Given the description of an element on the screen output the (x, y) to click on. 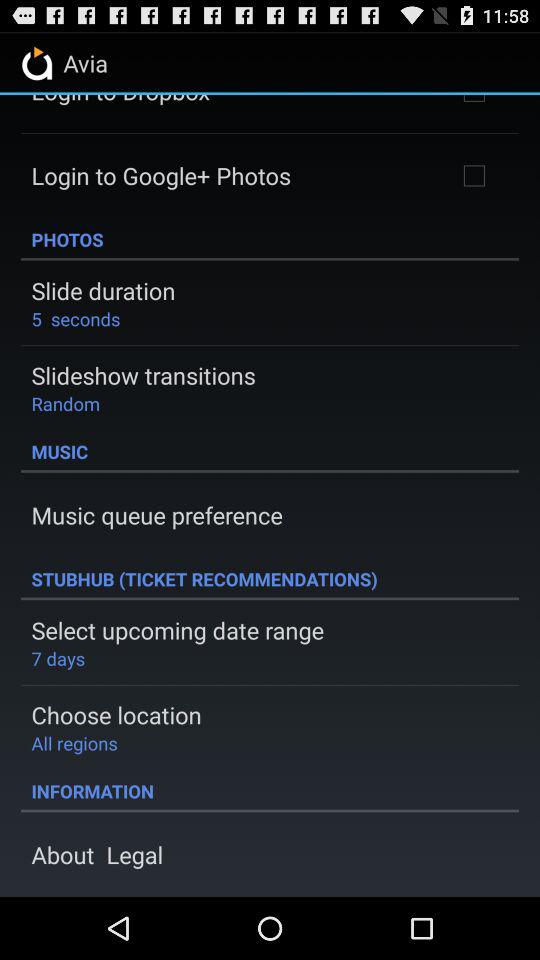
select the stubhub (ticket recommendations) item (270, 579)
